Given the description of an element on the screen output the (x, y) to click on. 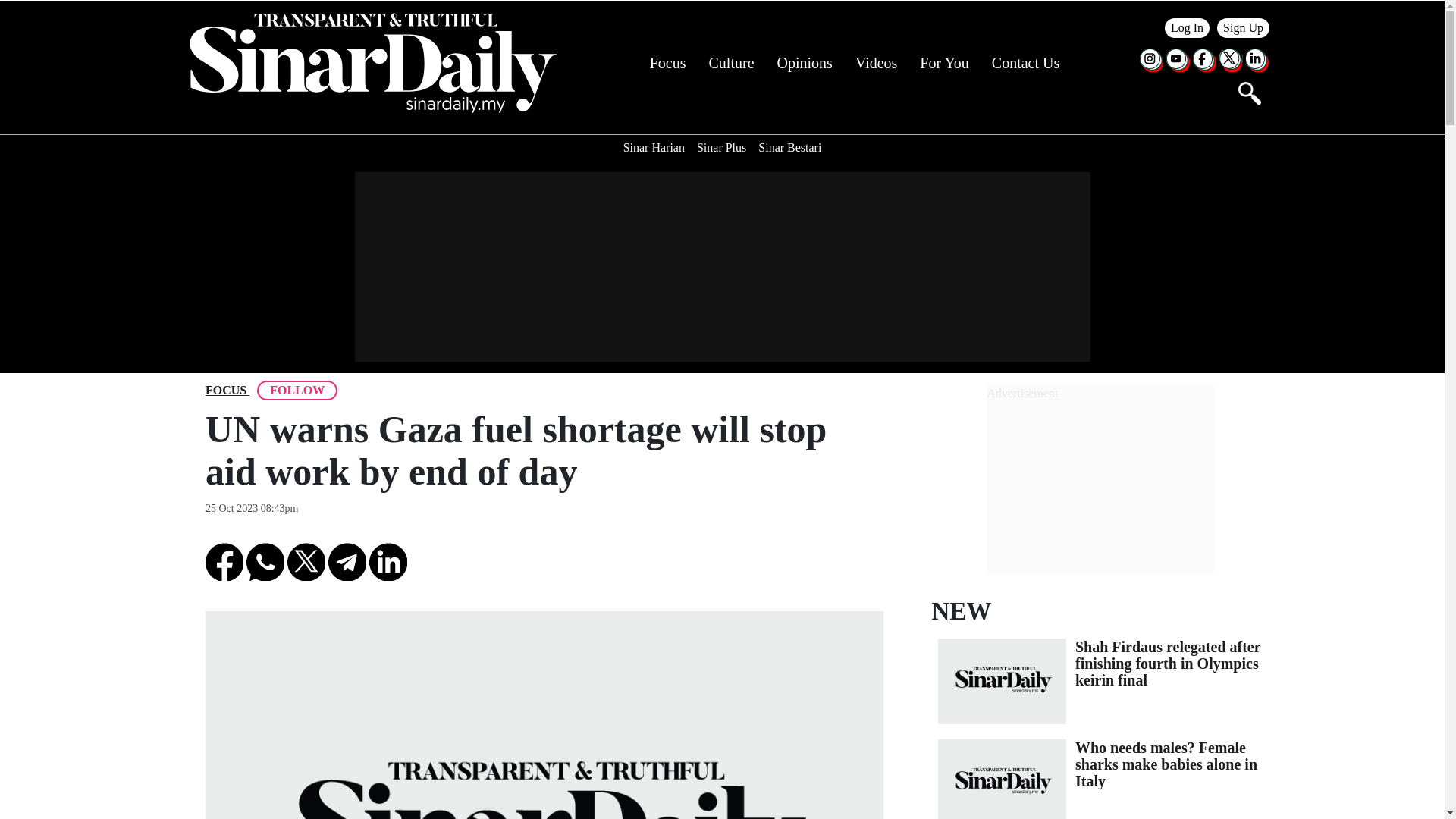
Sinar Plus (721, 147)
Share on LinkedIn (388, 561)
Contact Us (1025, 63)
Focus (225, 390)
Sinar Bestari (789, 147)
Log In (1186, 27)
Log In (1186, 27)
Sign Up (1243, 27)
Videos (876, 63)
Sinar Daily (371, 63)
